Given the description of an element on the screen output the (x, y) to click on. 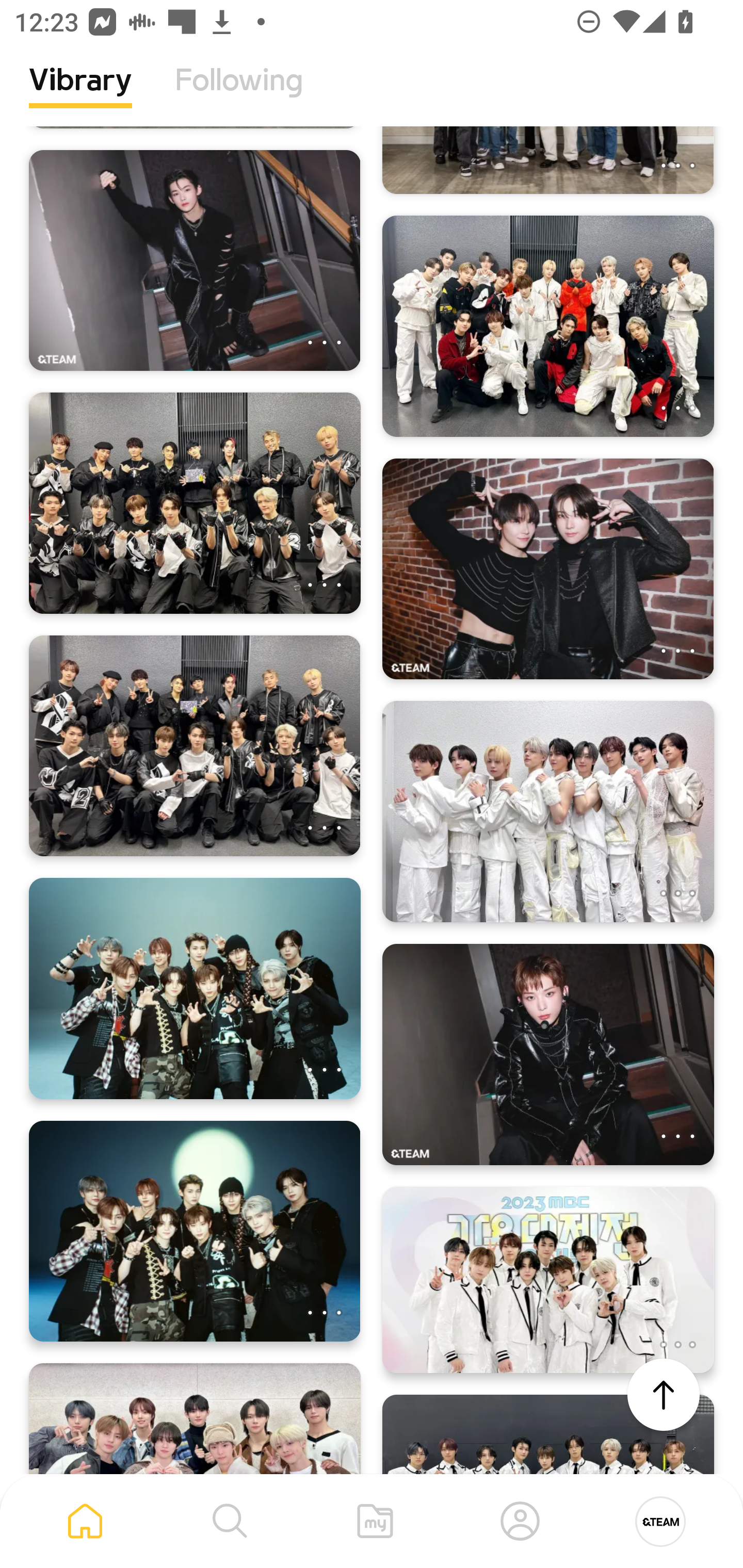
Vibrary (80, 95)
Following (239, 95)
